Given the description of an element on the screen output the (x, y) to click on. 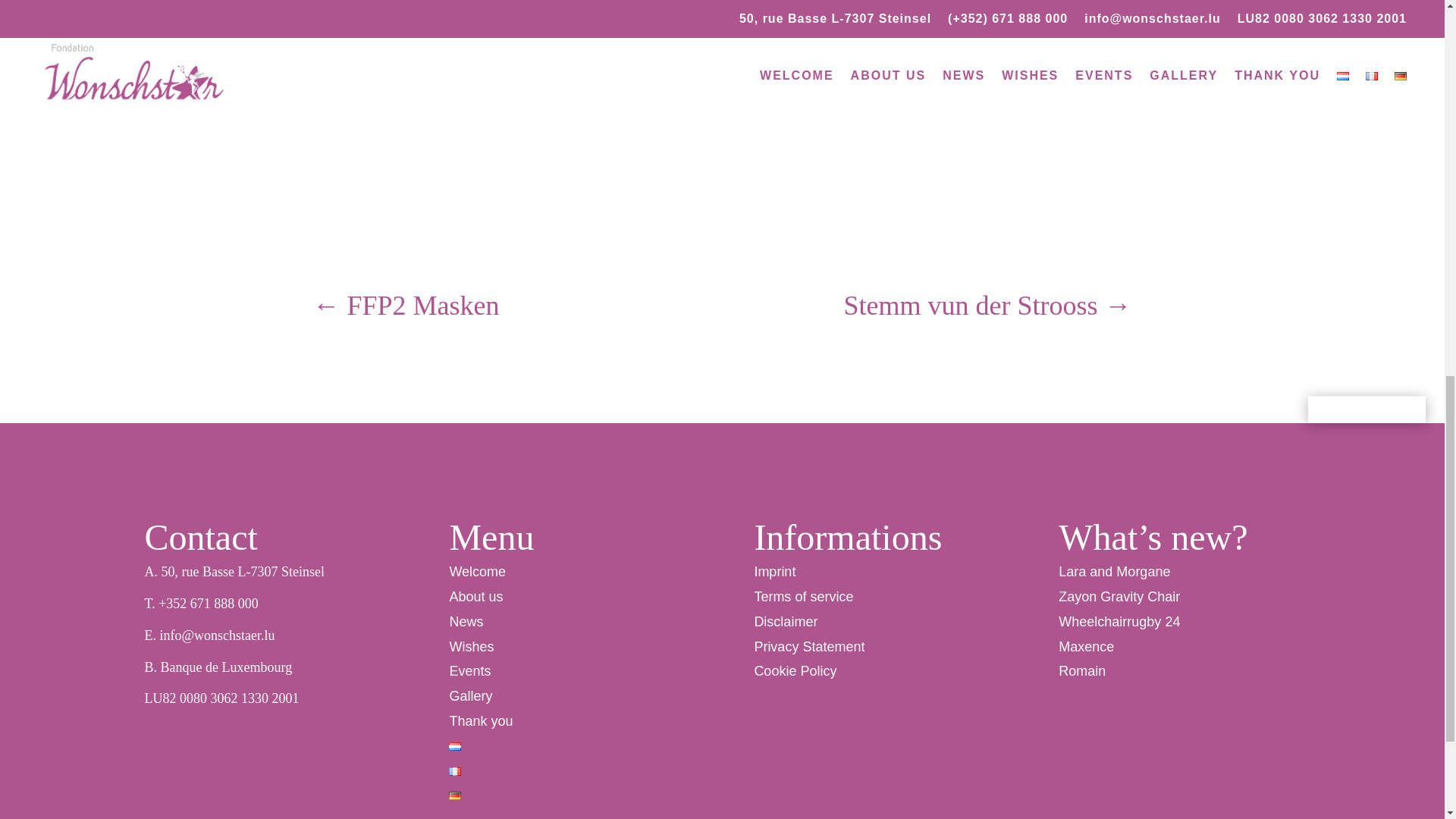
Events (469, 670)
About us (475, 596)
News (465, 621)
Gallery (470, 695)
Welcome (476, 571)
Thank you (480, 720)
Wishes (470, 646)
